Given the description of an element on the screen output the (x, y) to click on. 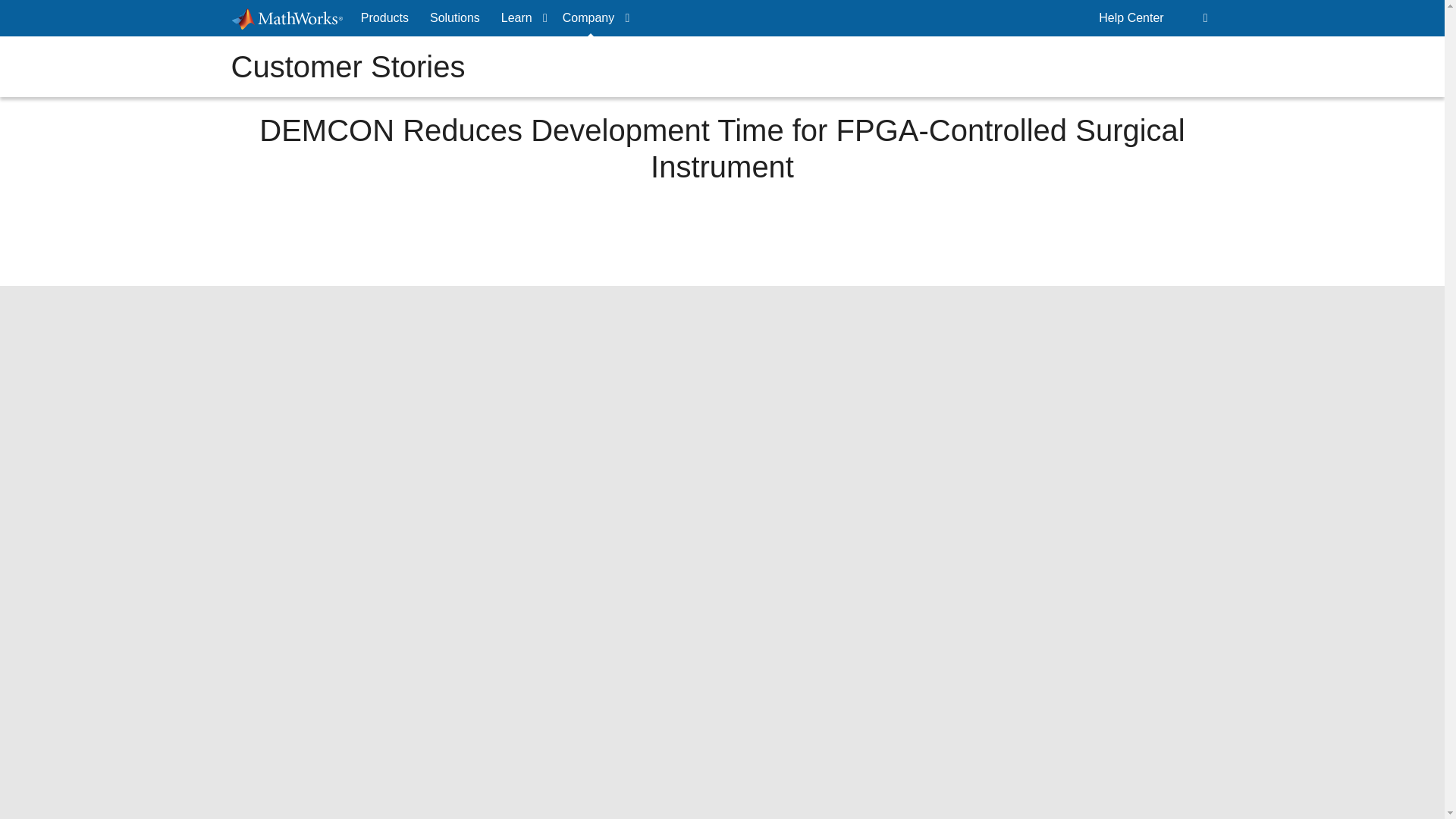
Help Center (1131, 18)
Products (384, 18)
Learn (521, 18)
Solutions (454, 18)
Company (592, 18)
